Given the description of an element on the screen output the (x, y) to click on. 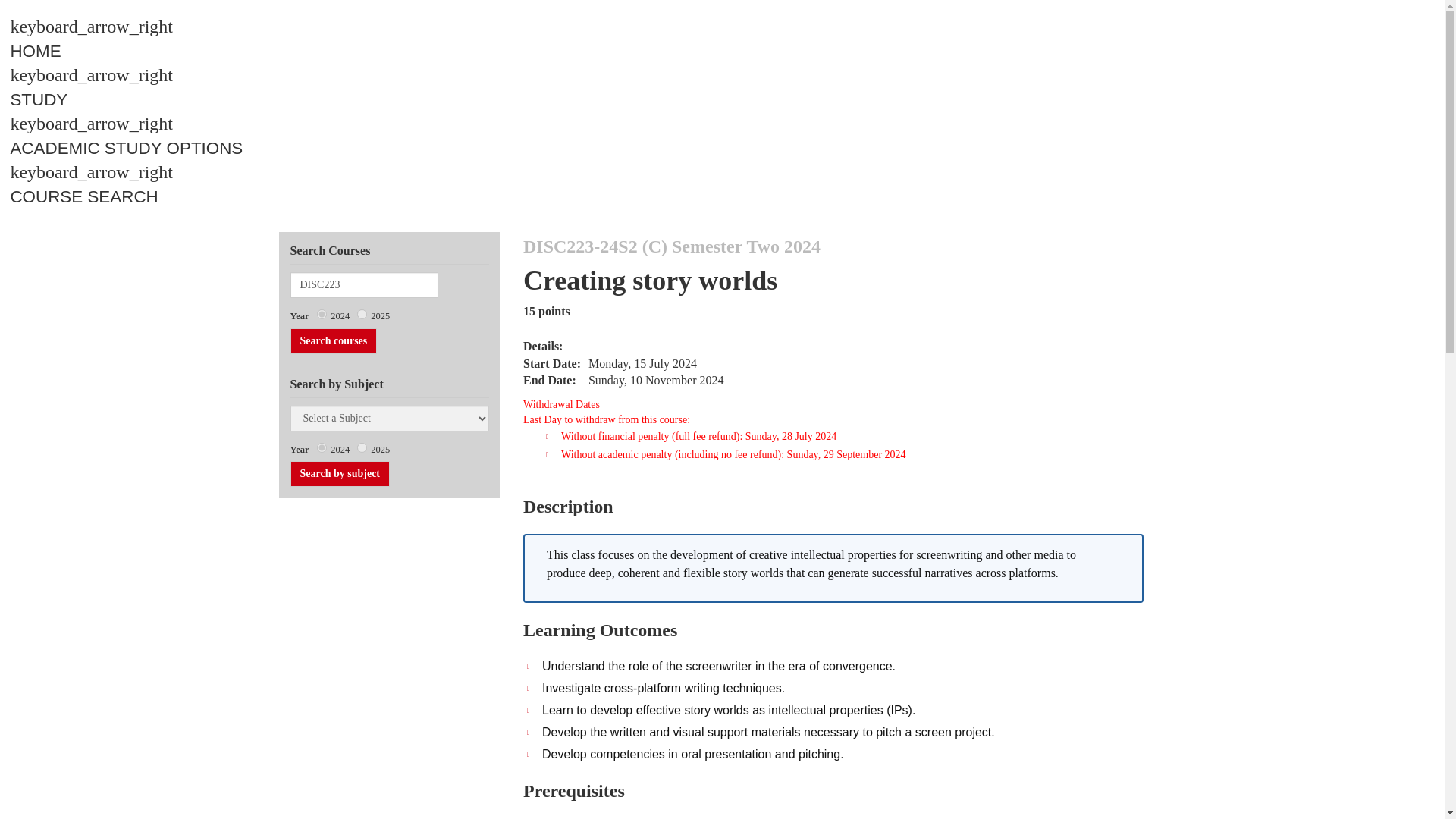
2025 (361, 314)
Search courses (333, 340)
Search by subject (339, 473)
Search courses (333, 340)
2024 (321, 314)
DISC223 (363, 284)
Search by subject (339, 473)
Search by subject (339, 473)
Search courses (333, 340)
2024 (321, 447)
